Given the description of an element on the screen output the (x, y) to click on. 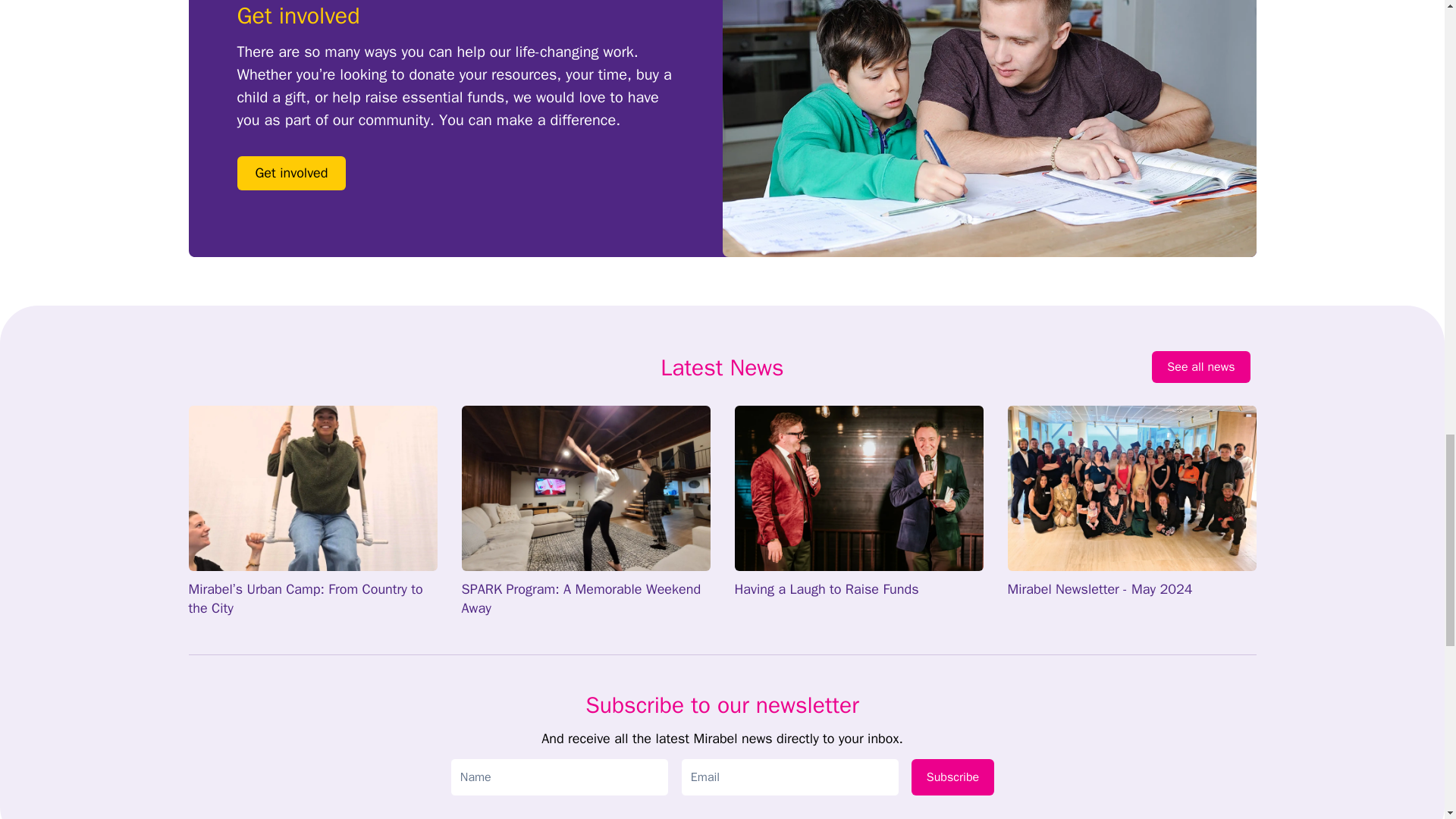
Get involved (290, 173)
See all news (1200, 367)
Subscribe (952, 777)
